Given the description of an element on the screen output the (x, y) to click on. 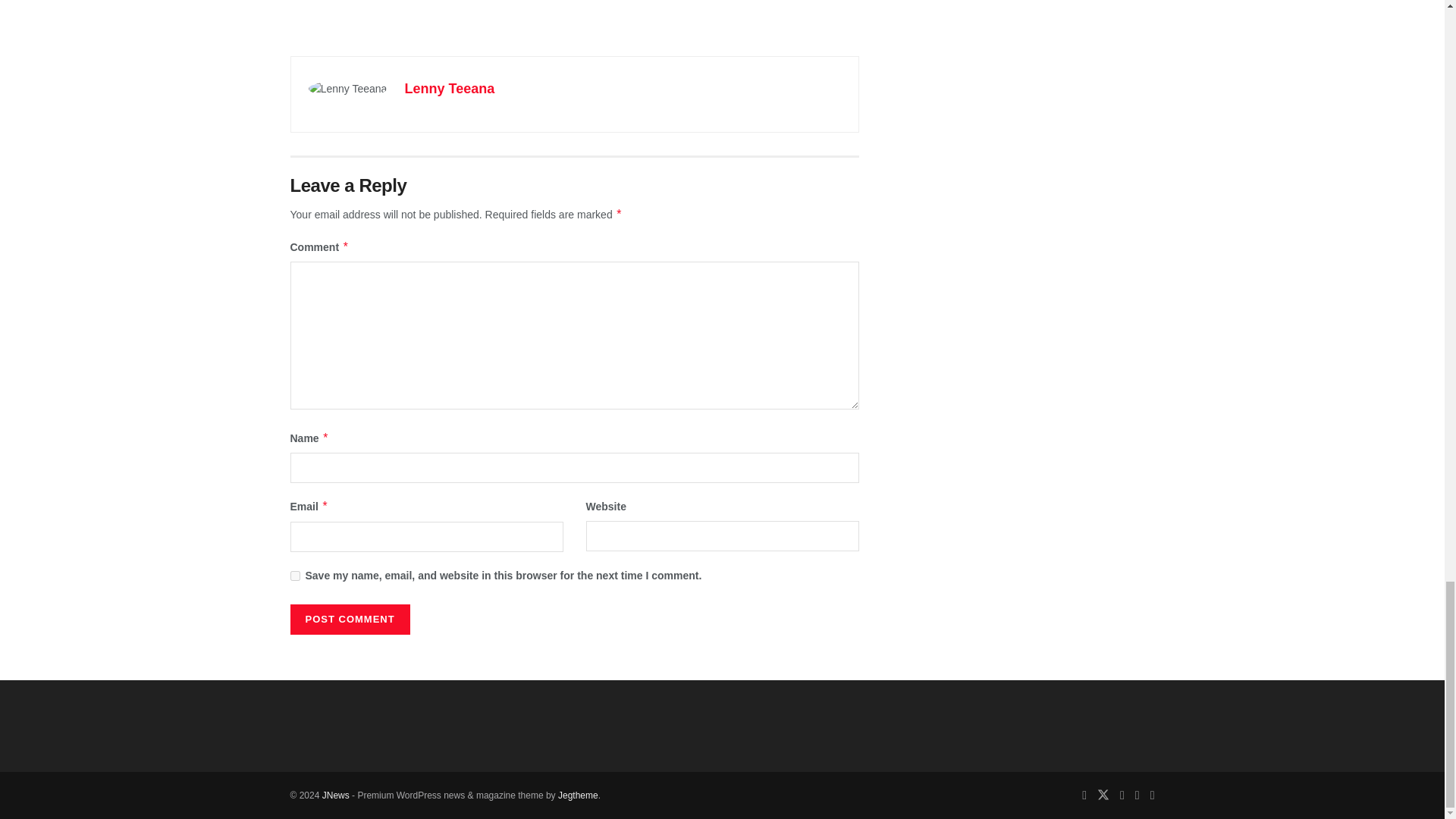
Post Comment (349, 619)
yes (294, 575)
Jegtheme (577, 795)
